Given the description of an element on the screen output the (x, y) to click on. 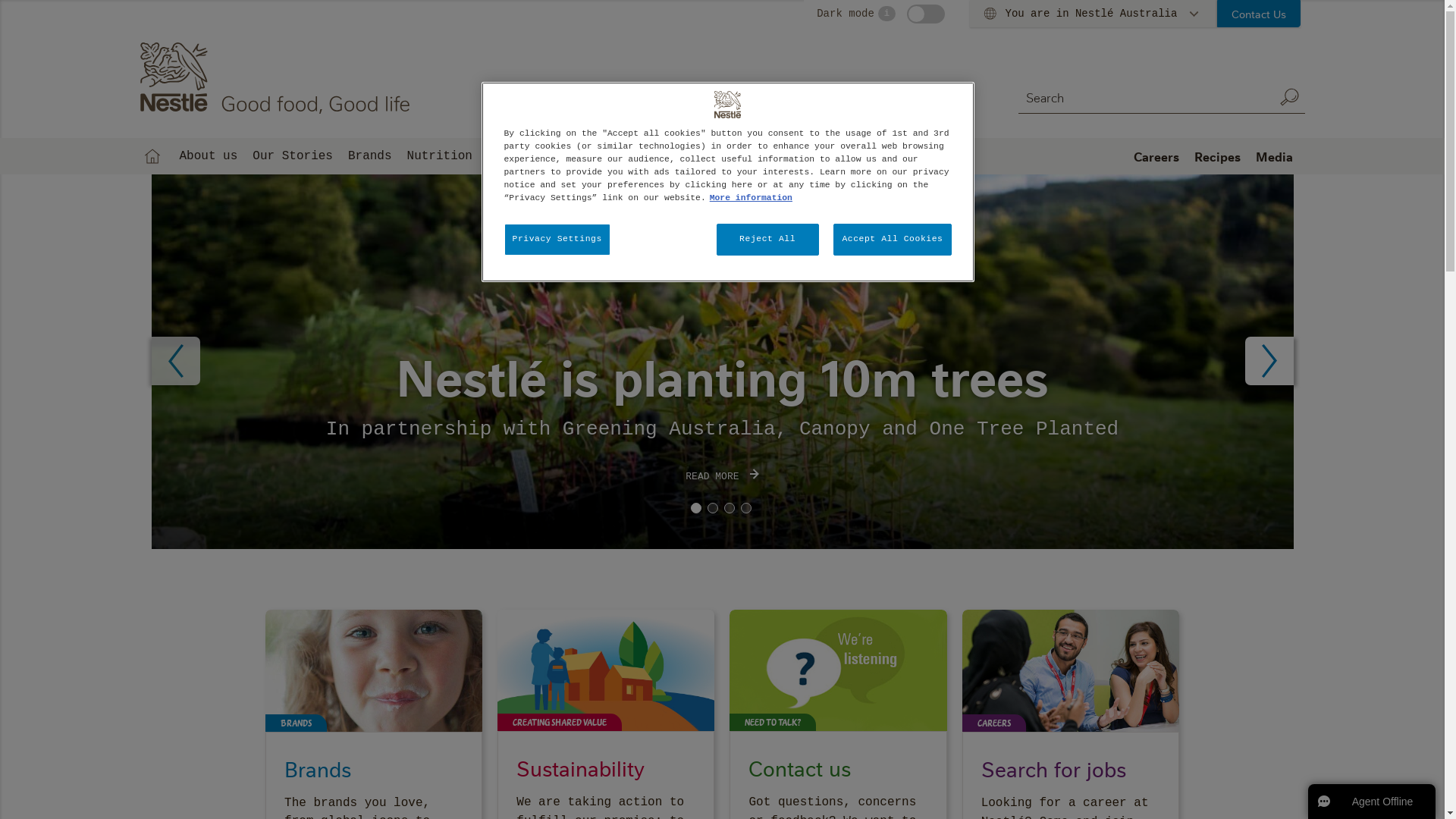
Accept All Cookies Element type: text (891, 239)
Previous Element type: text (175, 360)
planting_10_million_trees_plan Element type: hover (722, 361)
Skip to main content Element type: text (0, 0)
Careers Element type: text (1155, 156)
About us Element type: text (207, 156)
Home Element type: text (151, 155)
Media Element type: text (1274, 156)
Company Logo Element type: hover (727, 104)
Next Element type: text (1269, 360)
i Element type: text (886, 13)
Recipes Element type: text (1216, 156)
2 Element type: text (711, 507)
Sustainability Element type: text (538, 156)
4 Element type: text (745, 507)
Search Element type: text (1289, 96)
Brands Element type: text (369, 156)
More information Element type: text (750, 197)
Contact Us Element type: text (1258, 13)
1 Element type: text (695, 507)
Our Stories Element type: text (292, 156)
Privacy Settings Element type: text (556, 239)
3 Element type: text (728, 507)
Nutrition Element type: text (439, 156)
Home Element type: hover (276, 77)
Reject All Element type: text (767, 239)
